Given the description of an element on the screen output the (x, y) to click on. 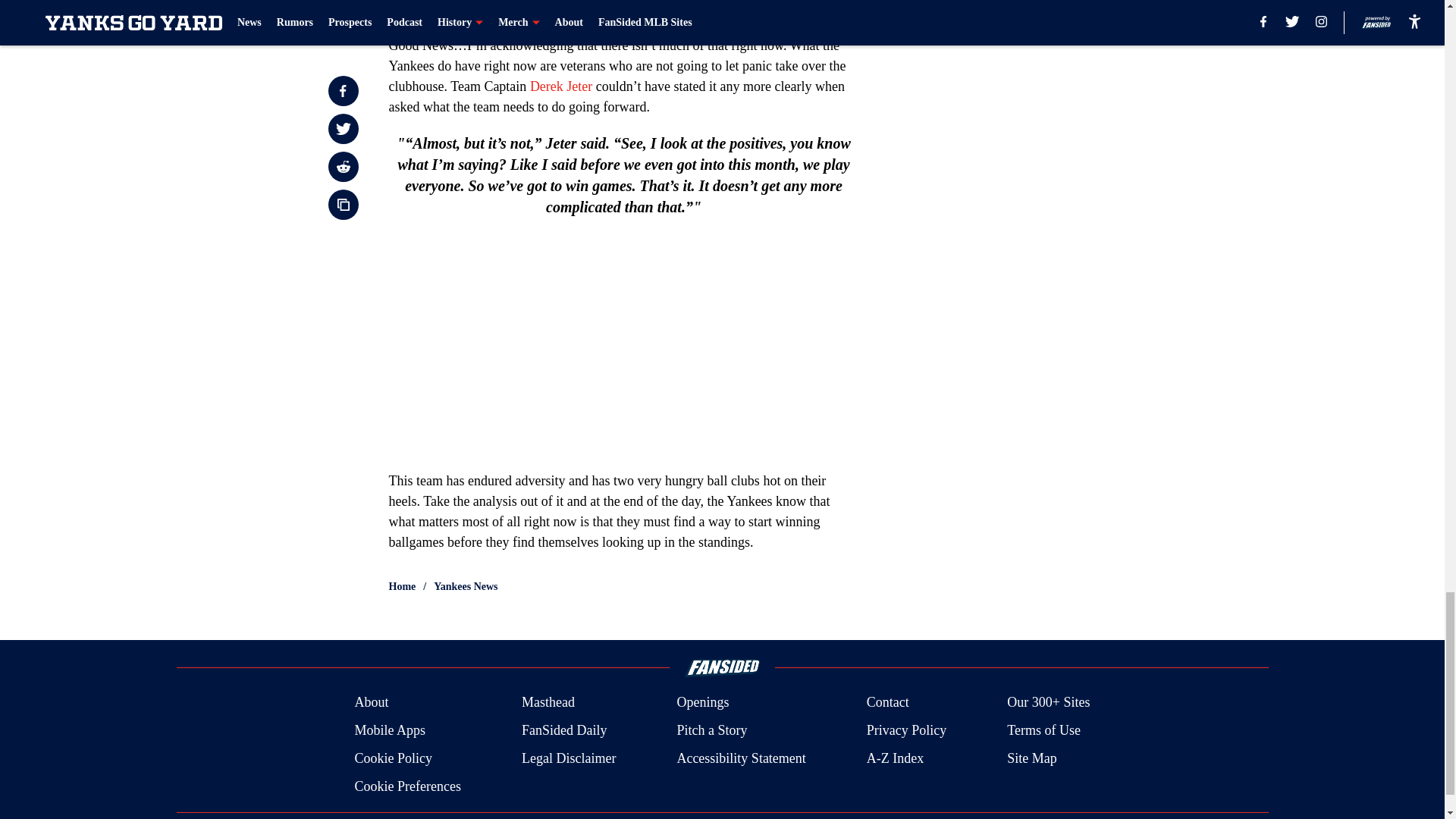
Home (401, 586)
Masthead (548, 702)
Derek Jeter (560, 86)
About (370, 702)
Yankees News (465, 586)
